Given the description of an element on the screen output the (x, y) to click on. 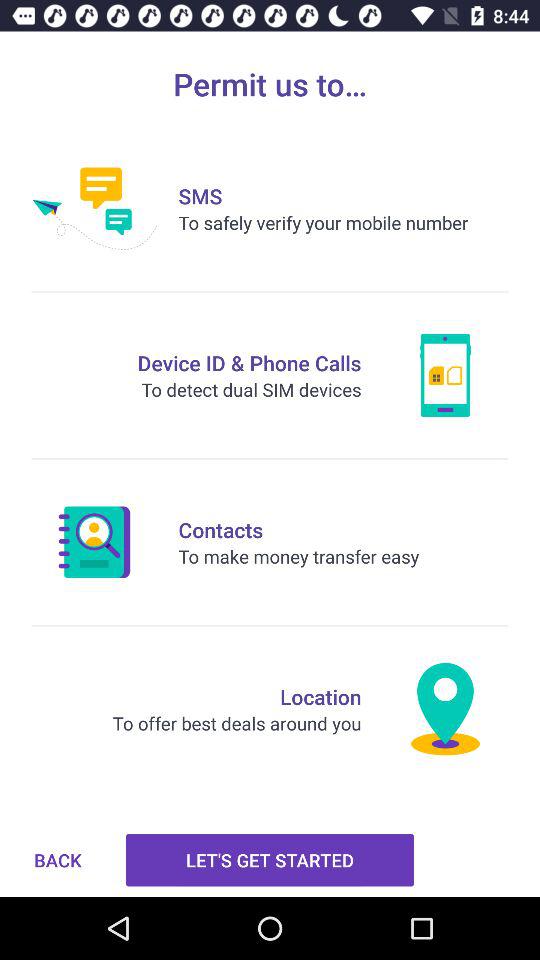
scroll to let s get (269, 859)
